Given the description of an element on the screen output the (x, y) to click on. 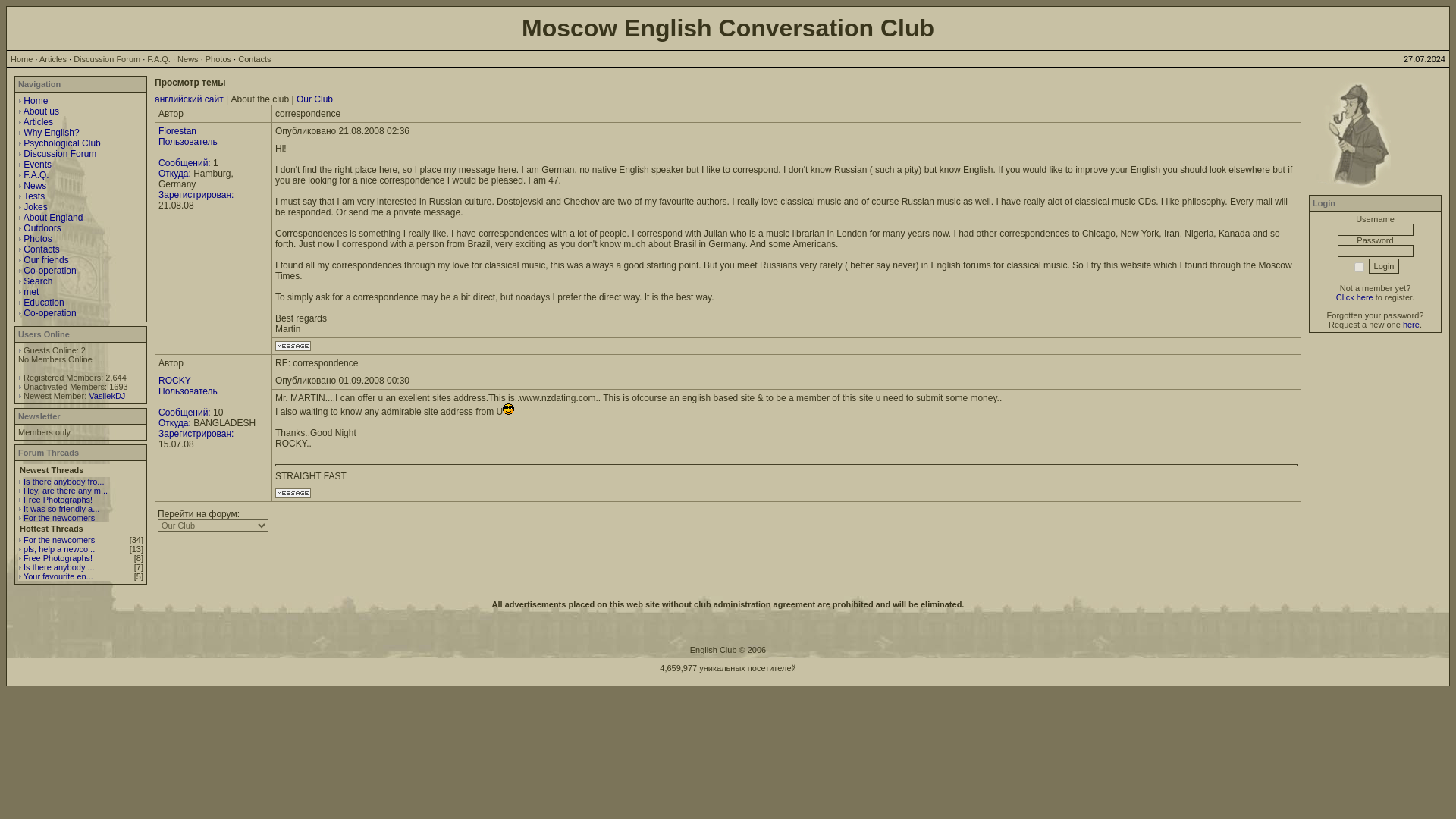
It was so friendly a... (61, 508)
Education (43, 302)
For the newcomers (58, 539)
F.A.Q. (158, 58)
Free Photographs! (58, 557)
It was so friendly and warm !!! (61, 508)
Photos (218, 58)
F.A.Q. (35, 174)
Search (37, 281)
Articles (37, 122)
News (34, 185)
Articles (52, 58)
Tests (34, 195)
met (31, 291)
About us (41, 111)
